Given the description of an element on the screen output the (x, y) to click on. 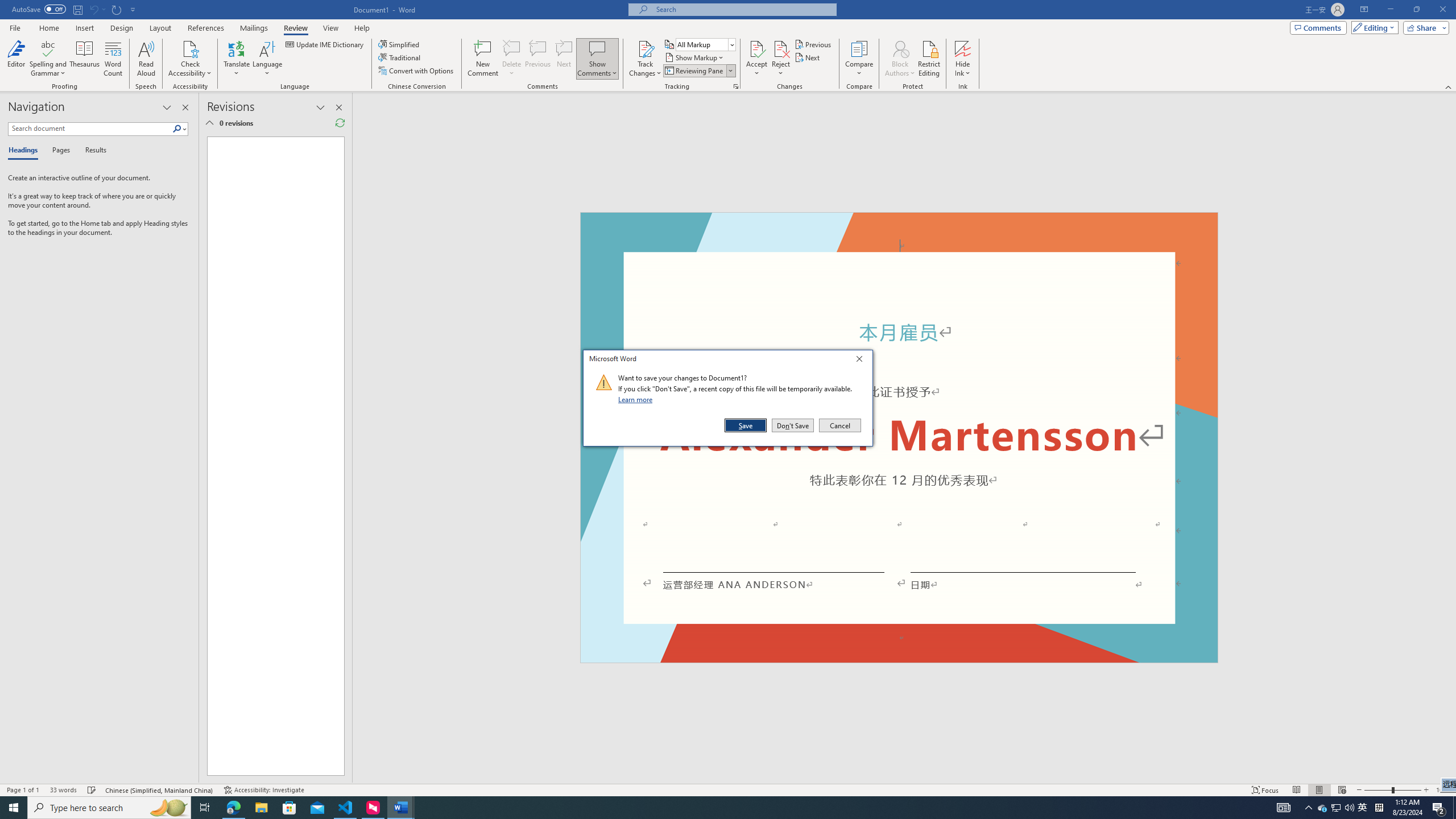
Minimize (1390, 9)
Results (91, 150)
Close pane (185, 107)
Translate (236, 58)
Search (179, 128)
Open (731, 44)
Word Count (113, 58)
Microsoft search (742, 9)
Track Changes (644, 48)
Review (295, 28)
Language Chinese (Simplified, Mainland China) (159, 790)
Spelling and Grammar (48, 48)
